Given the description of an element on the screen output the (x, y) to click on. 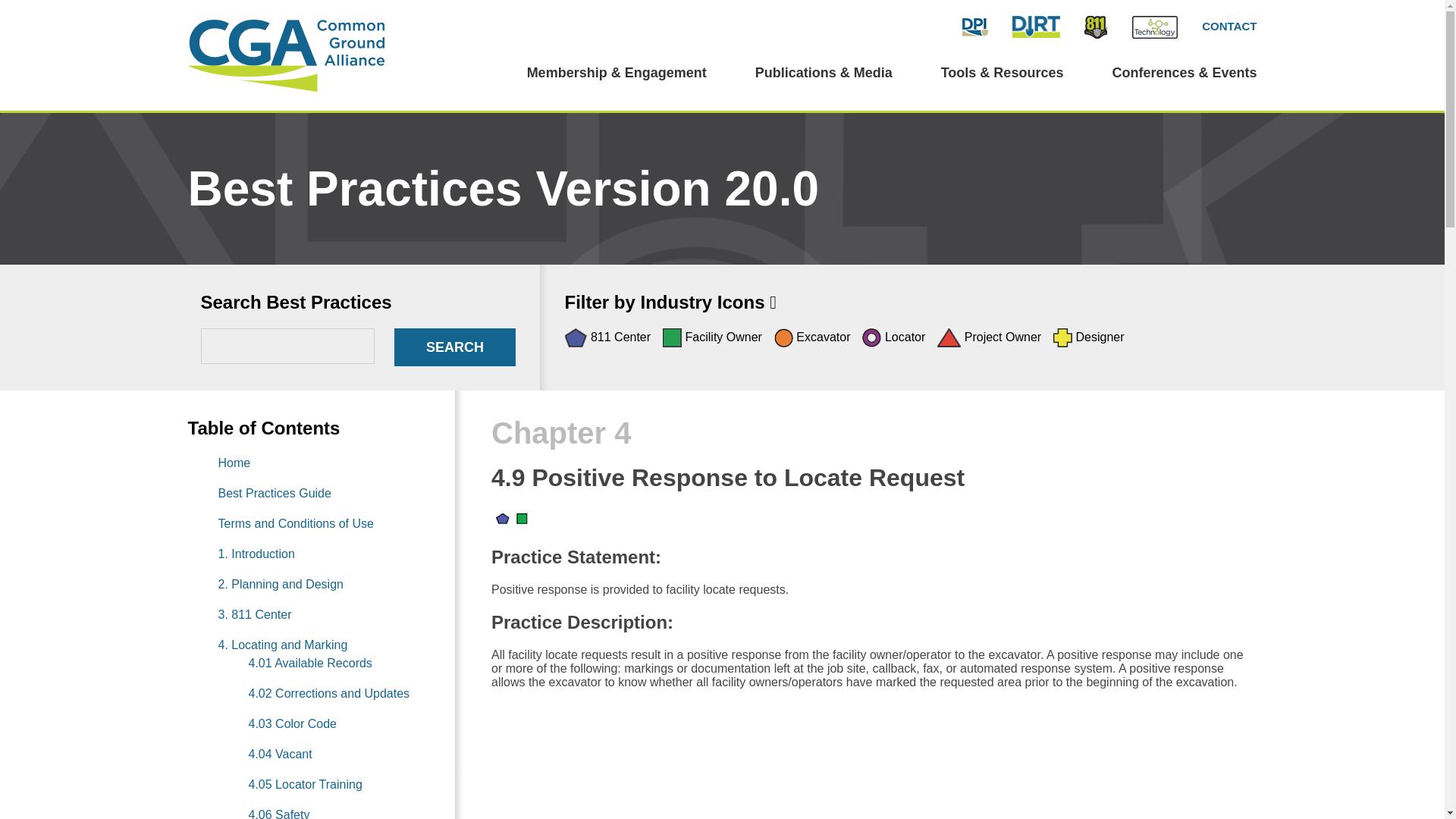
CONTACT (1229, 25)
